Given the description of an element on the screen output the (x, y) to click on. 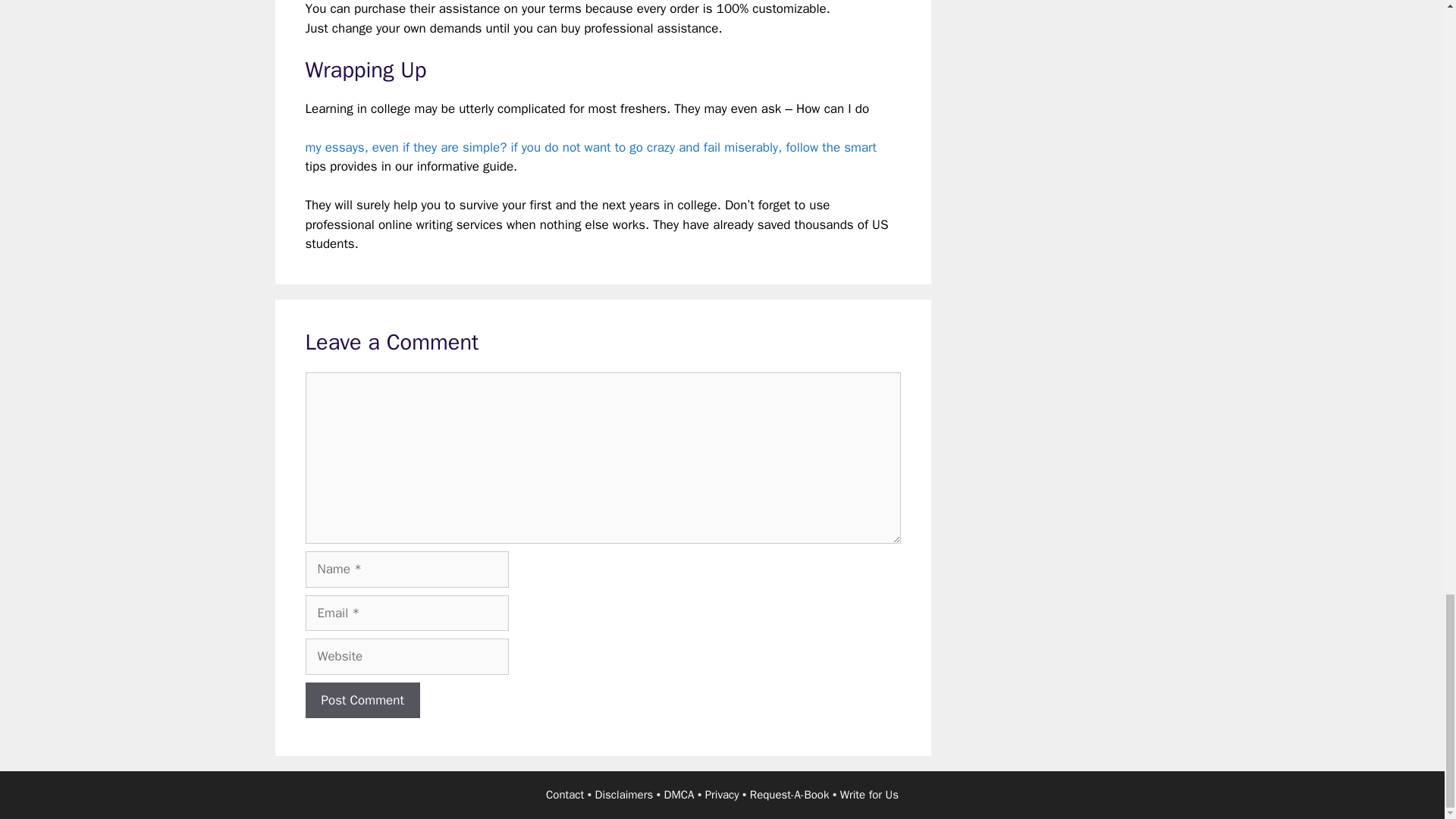
Contact (564, 794)
Request-A-Book (789, 794)
Post Comment (361, 700)
Write for Us (869, 794)
Disclaimers (624, 794)
Post Comment (361, 700)
DMCA (678, 794)
Privacy (721, 794)
